Given the description of an element on the screen output the (x, y) to click on. 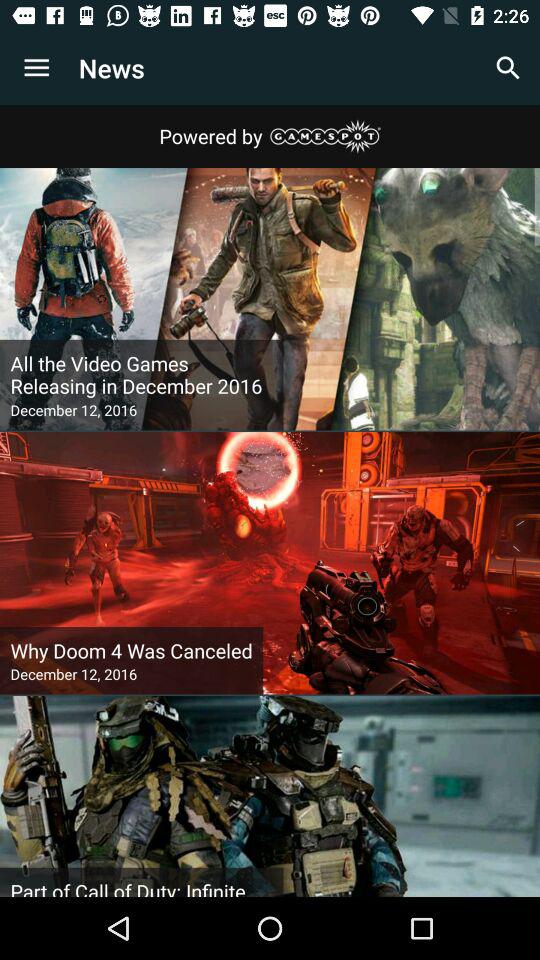
launch icon to the left of news (36, 68)
